Given the description of an element on the screen output the (x, y) to click on. 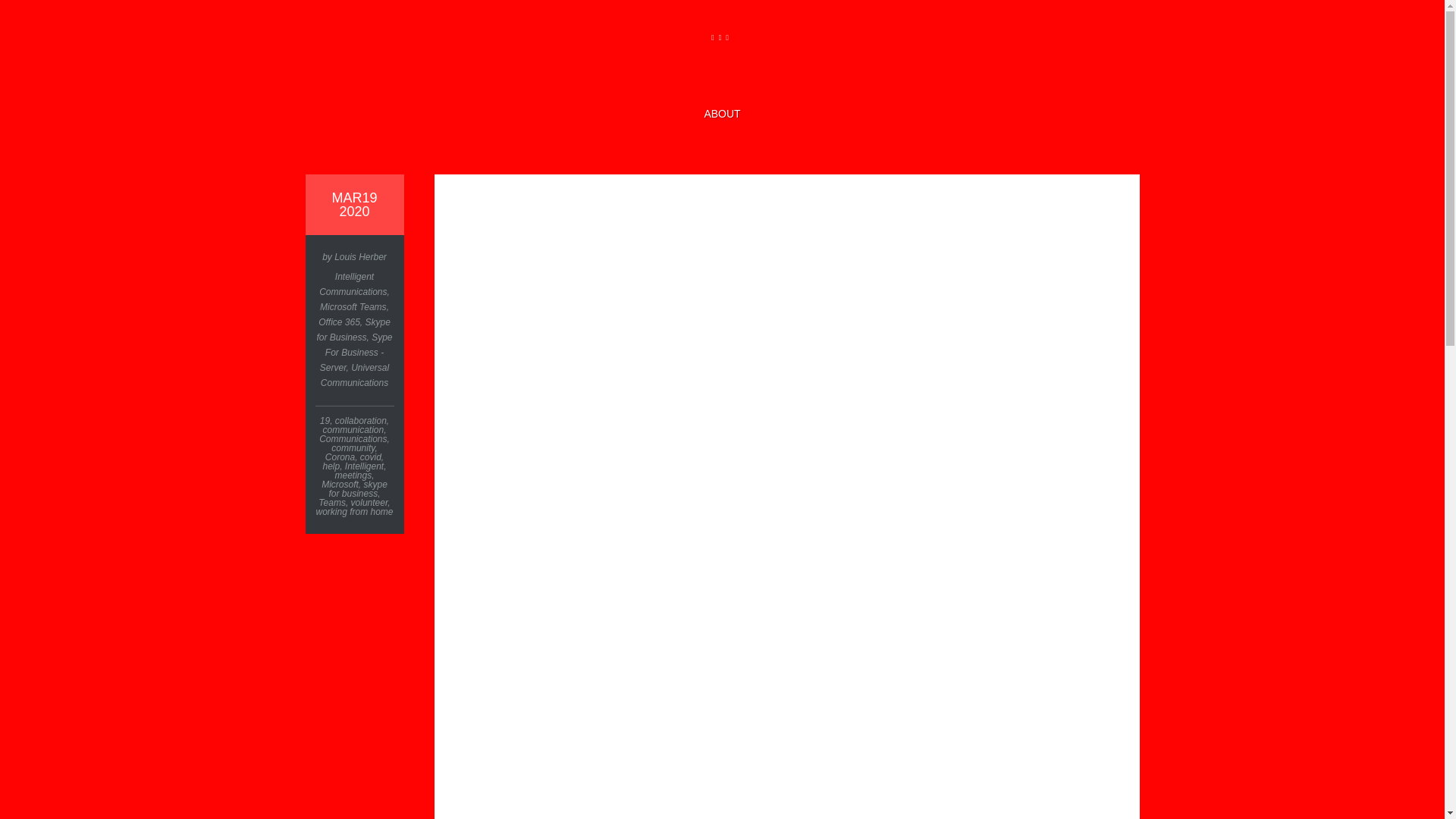
ABOUT (721, 113)
Teams (332, 502)
Skype for Business (352, 329)
communication (352, 429)
Universal Communications (354, 375)
Sype For Business - Server (356, 352)
Microsoft (339, 484)
Louis UC Blog (721, 71)
Intelligent (364, 466)
Microsoft Teams (353, 307)
Intelligent Communications (352, 284)
working from home (354, 511)
19 (325, 420)
